Given the description of an element on the screen output the (x, y) to click on. 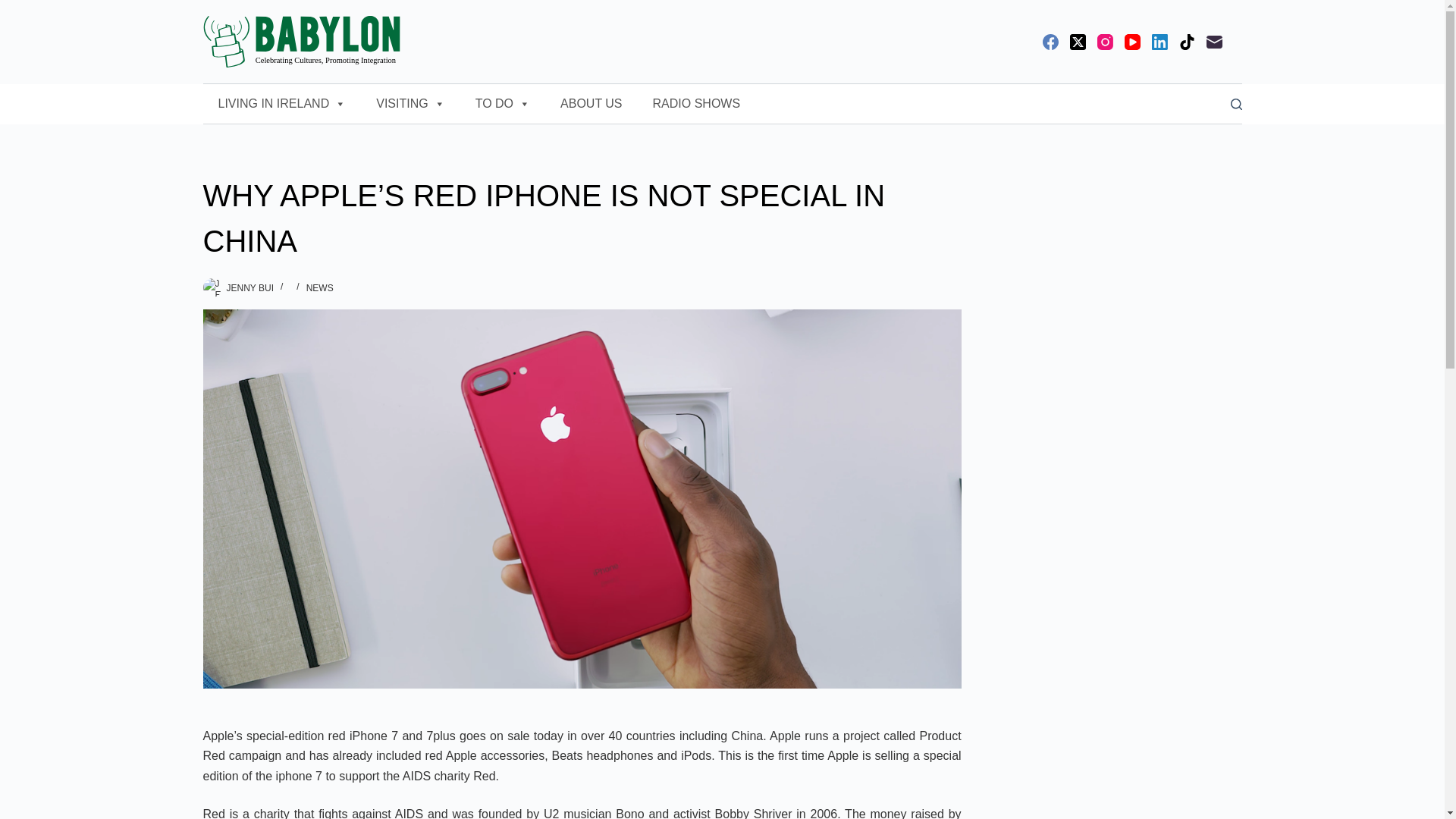
Skip to content (15, 7)
Posts by Jenny Bui (249, 287)
